Given the description of an element on the screen output the (x, y) to click on. 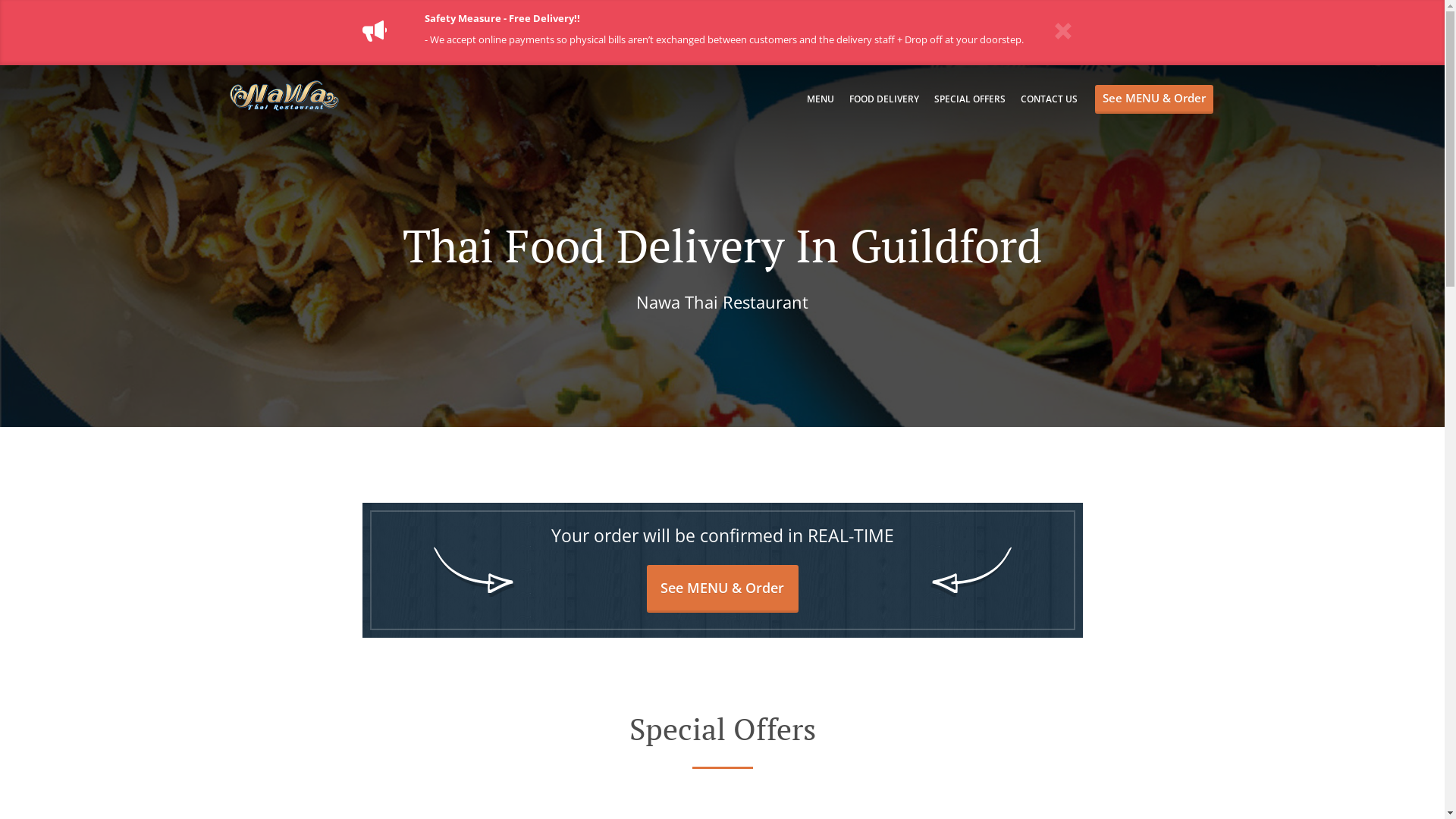
MENU Element type: text (820, 98)
SPECIAL OFFERS Element type: text (969, 98)
CONTACT US Element type: text (1048, 98)
FOOD DELIVERY Element type: text (884, 98)
